Given the description of an element on the screen output the (x, y) to click on. 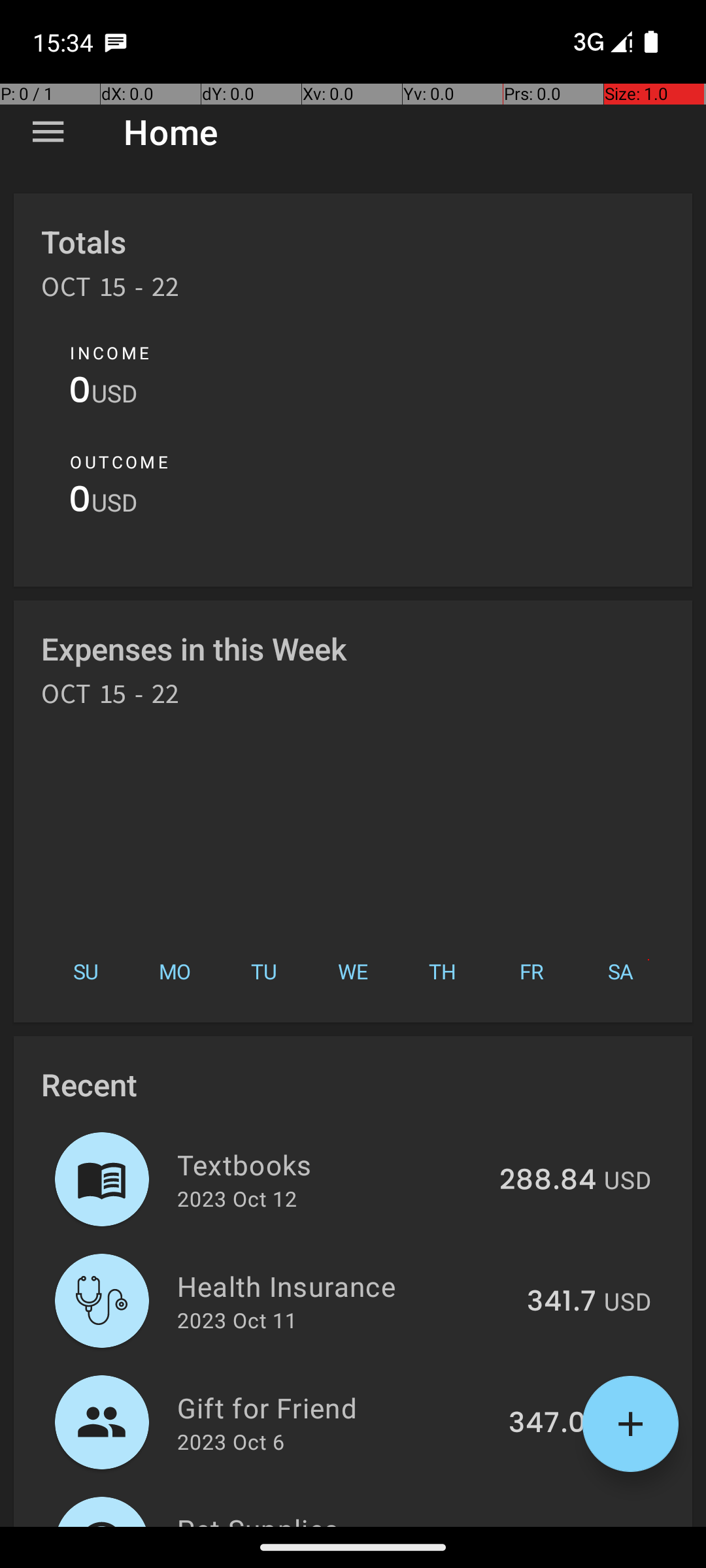
Textbooks Element type: android.widget.TextView (330, 1164)
288.84 Element type: android.widget.TextView (547, 1180)
Health Insurance Element type: android.widget.TextView (344, 1285)
2023 Oct 11 Element type: android.widget.TextView (236, 1320)
341.7 Element type: android.widget.TextView (561, 1301)
Gift for Friend Element type: android.widget.TextView (335, 1407)
2023 Oct 6 Element type: android.widget.TextView (230, 1441)
347.01 Element type: android.widget.TextView (551, 1423)
Pet Supplies Element type: android.widget.TextView (331, 1518)
293.83 Element type: android.widget.TextView (548, 1524)
